Given the description of an element on the screen output the (x, y) to click on. 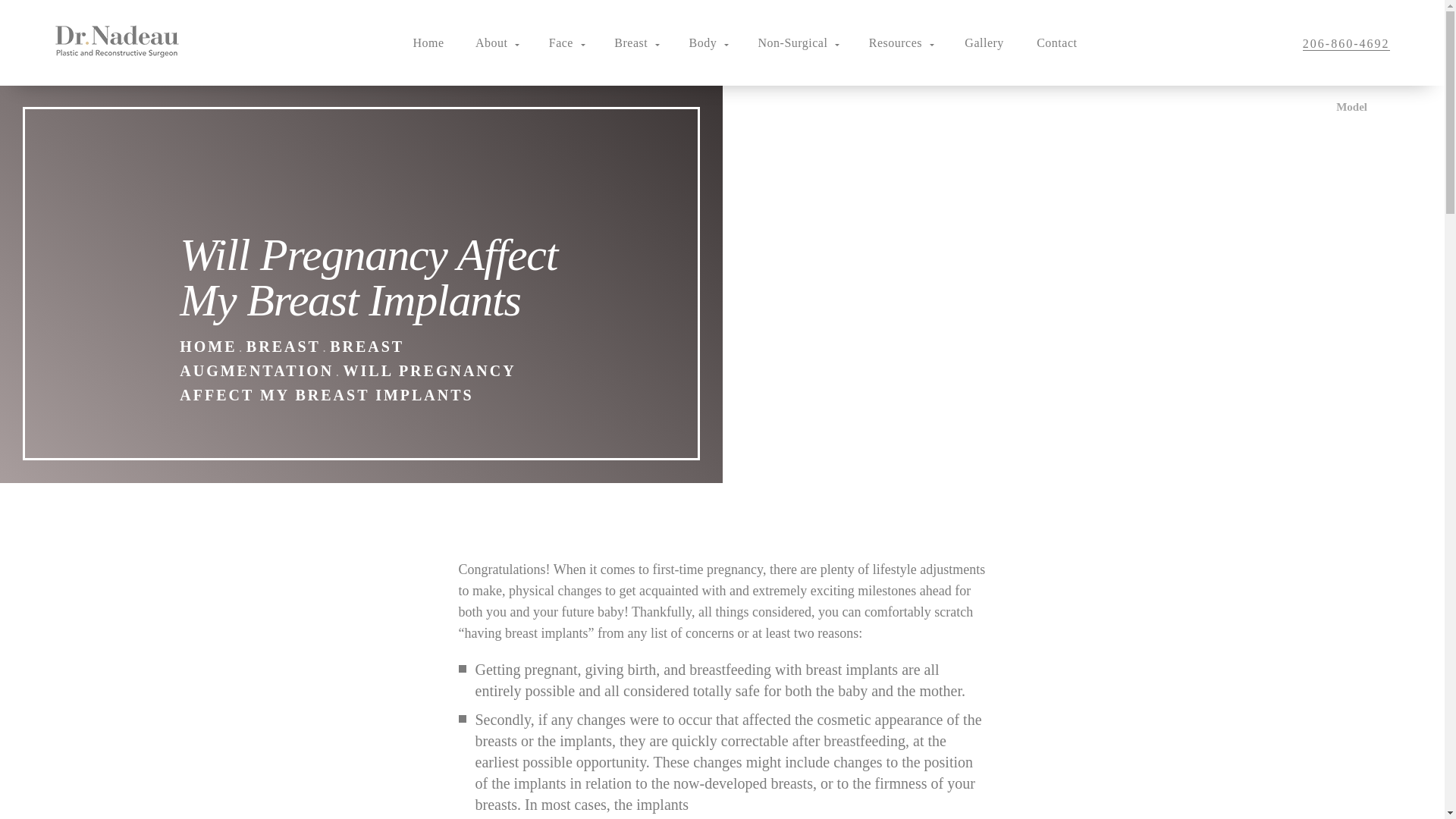
Breast (636, 42)
Body (708, 42)
Face (566, 42)
Home (427, 42)
About (497, 42)
